Given the description of an element on the screen output the (x, y) to click on. 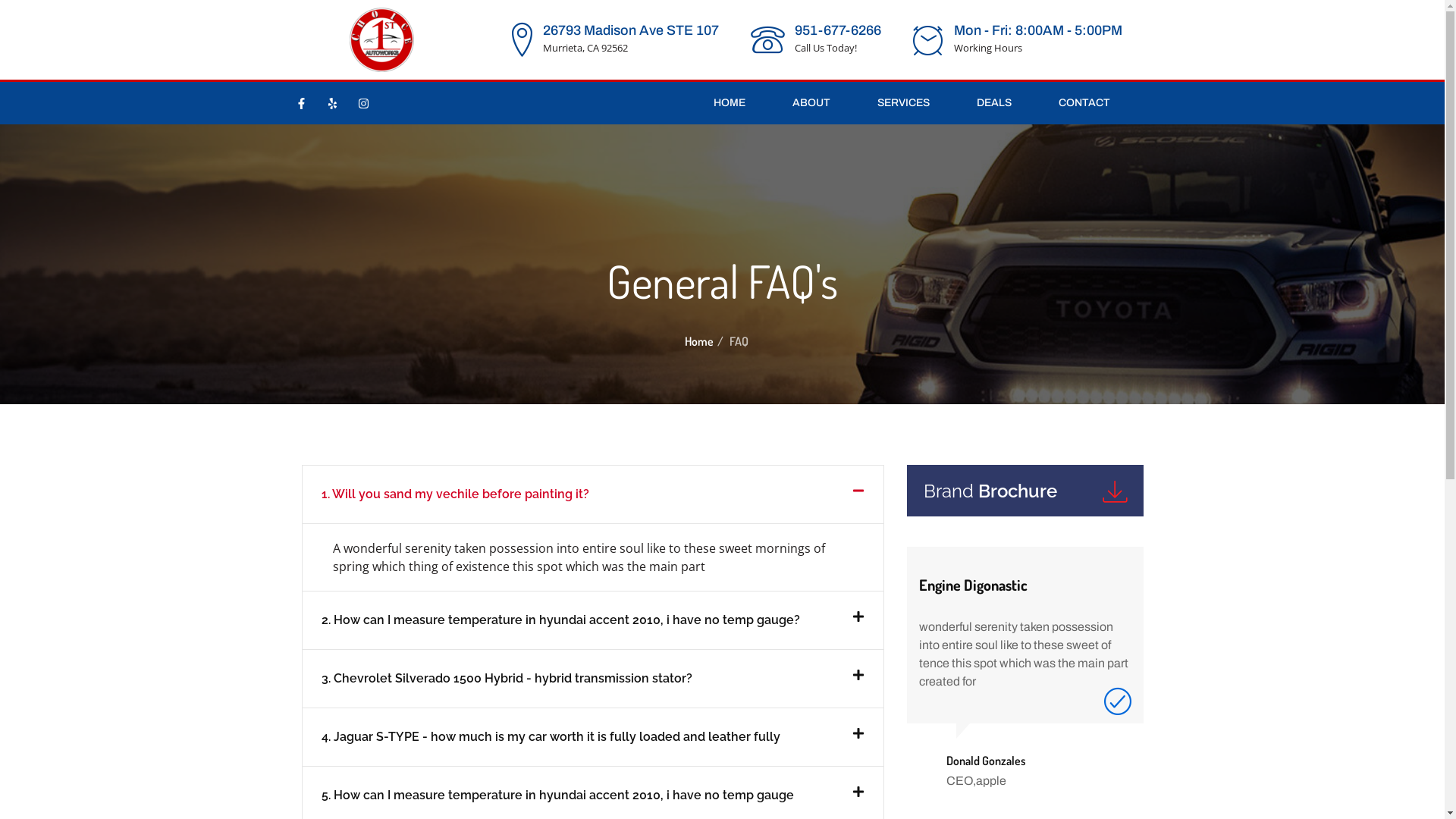
ABOUT Element type: text (810, 102)
Home Element type: text (698, 340)
CONTACT Element type: text (1084, 102)
HOME Element type: text (729, 102)
1. Will you sand my vechile before painting it? Element type: text (455, 493)
SERVICES Element type: text (903, 102)
DEALS Element type: text (994, 102)
26793 Madison Ave STE 107 Element type: text (630, 29)
